Given the description of an element on the screen output the (x, y) to click on. 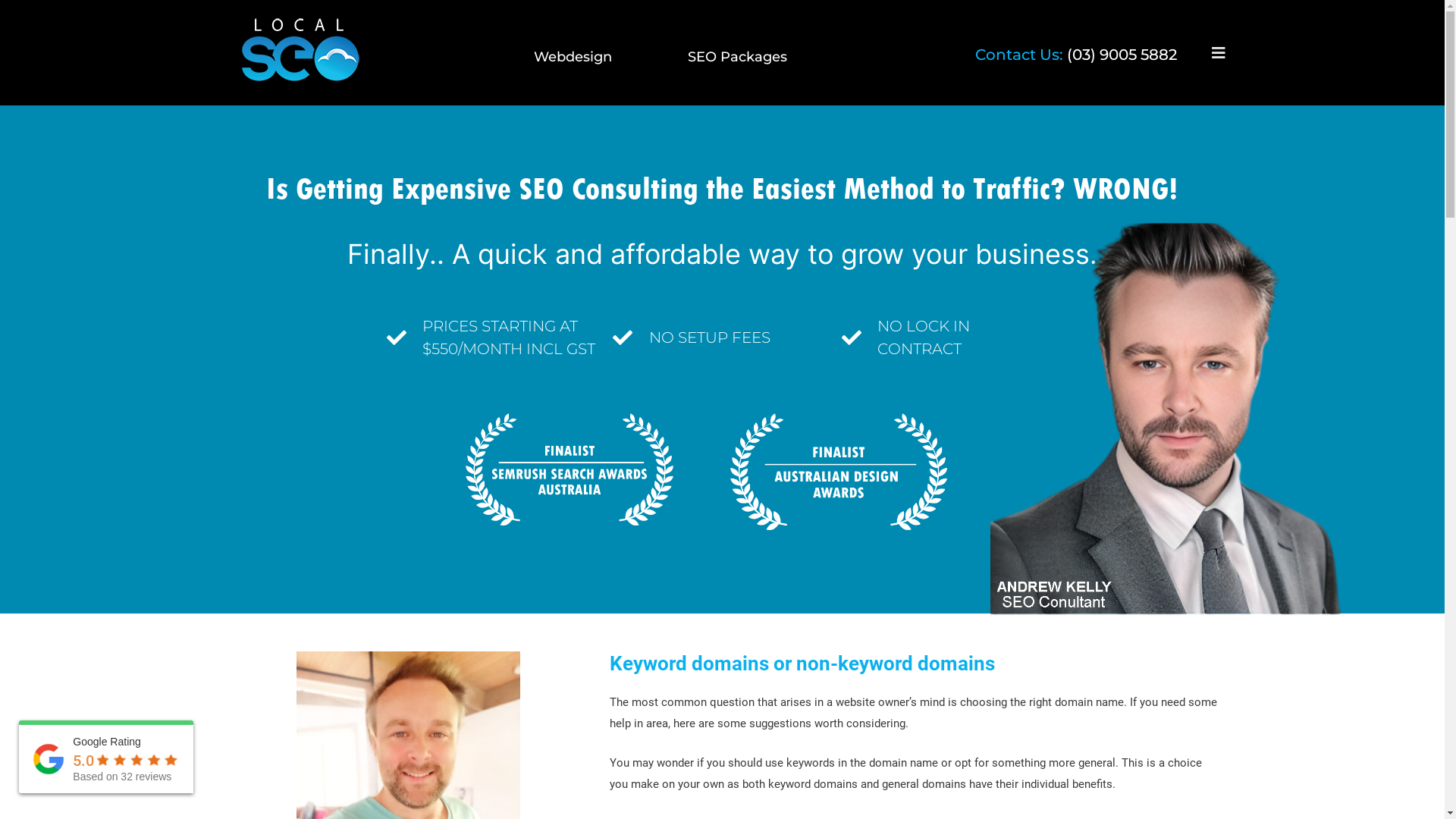
5.0 Element type: text (83, 760)
Based on 32 reviews Element type: text (121, 776)
Google Rating Element type: text (106, 741)
SEO Packages Element type: text (737, 56)
Webdesign Element type: text (572, 56)
